Given the description of an element on the screen output the (x, y) to click on. 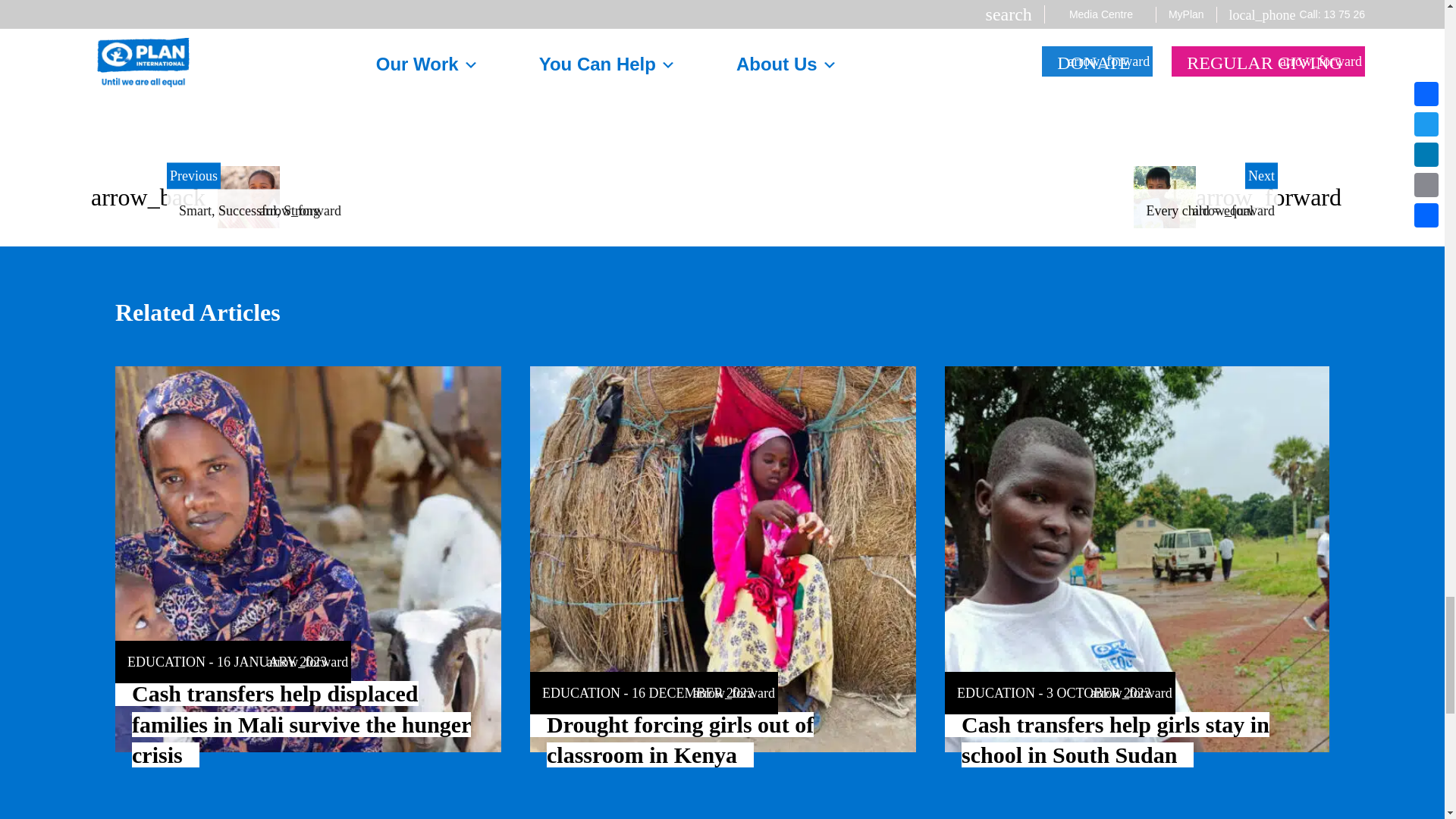
Email (751, 79)
Twitter (691, 79)
Facebook (661, 79)
LinkedIn (721, 79)
